Given the description of an element on the screen output the (x, y) to click on. 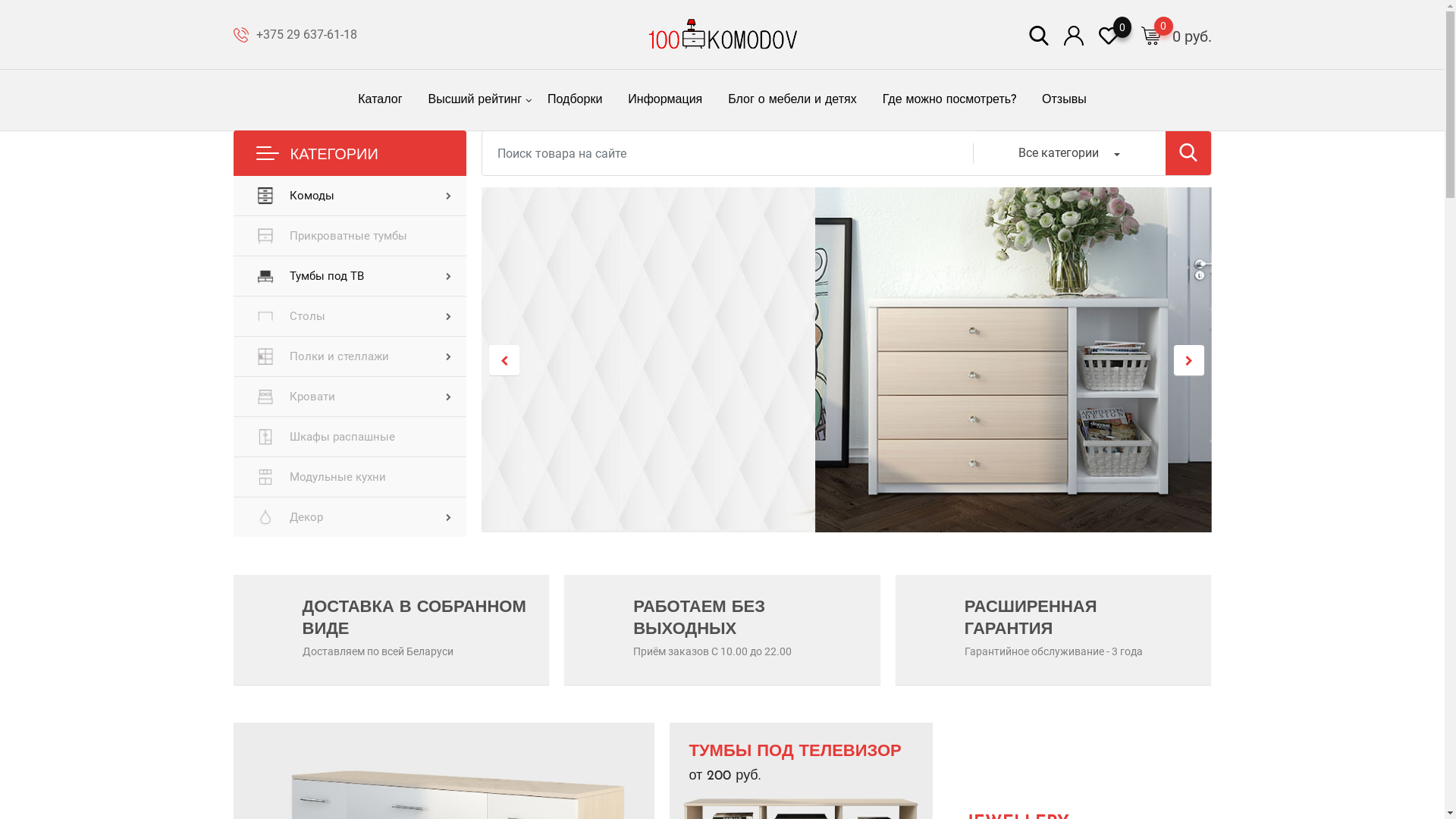
+375 29 637-61-18 Element type: text (306, 34)
0 Element type: text (1150, 34)
0 Element type: text (1107, 34)
